Given the description of an element on the screen output the (x, y) to click on. 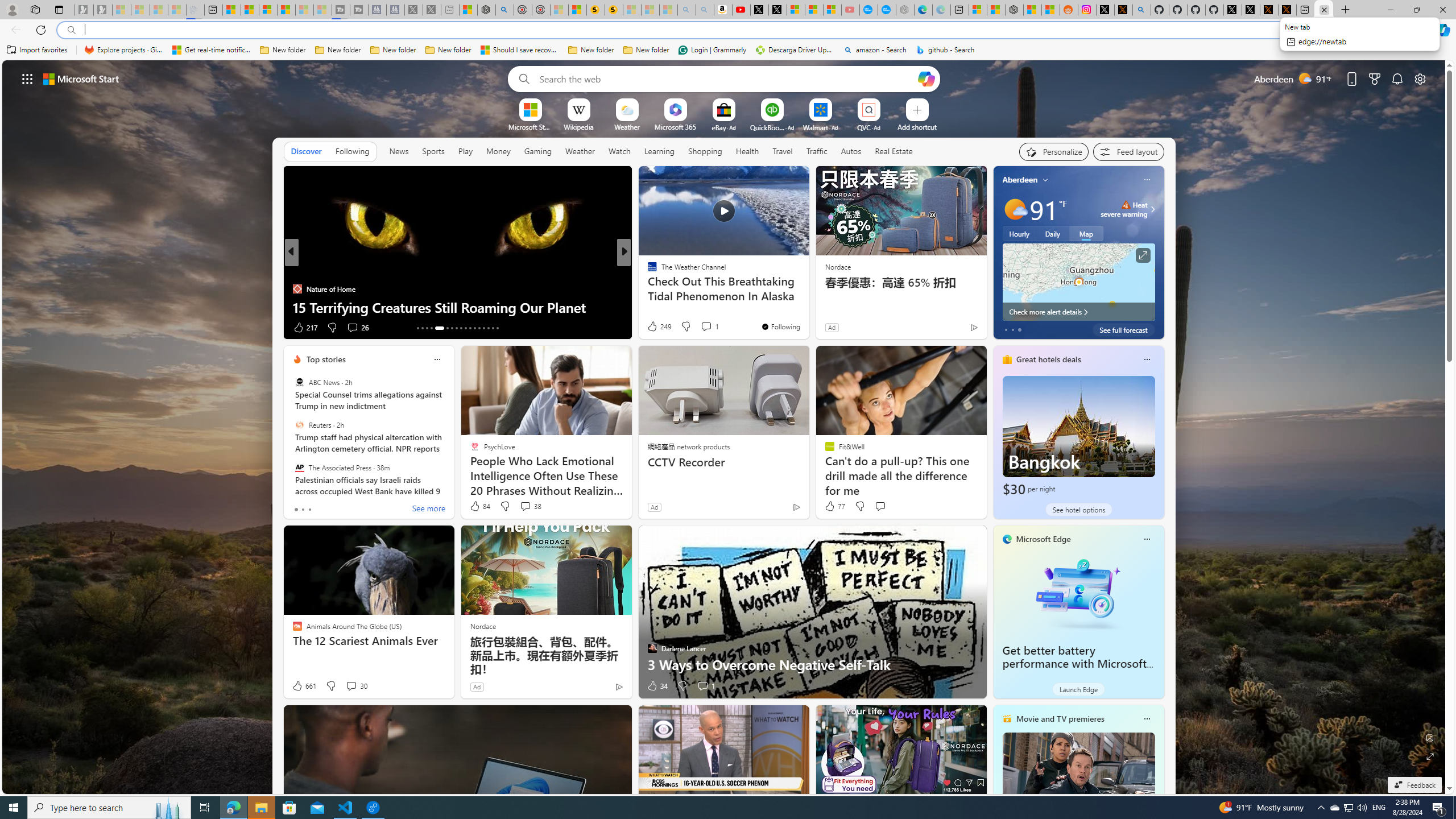
AutomationID: tab-26 (483, 328)
Nordace - Duffels (1013, 9)
AutomationID: tab-25 (478, 328)
View comments 257 Comment (6, 327)
View comments 3 Comment (705, 327)
The Independent (647, 270)
